Given the description of an element on the screen output the (x, y) to click on. 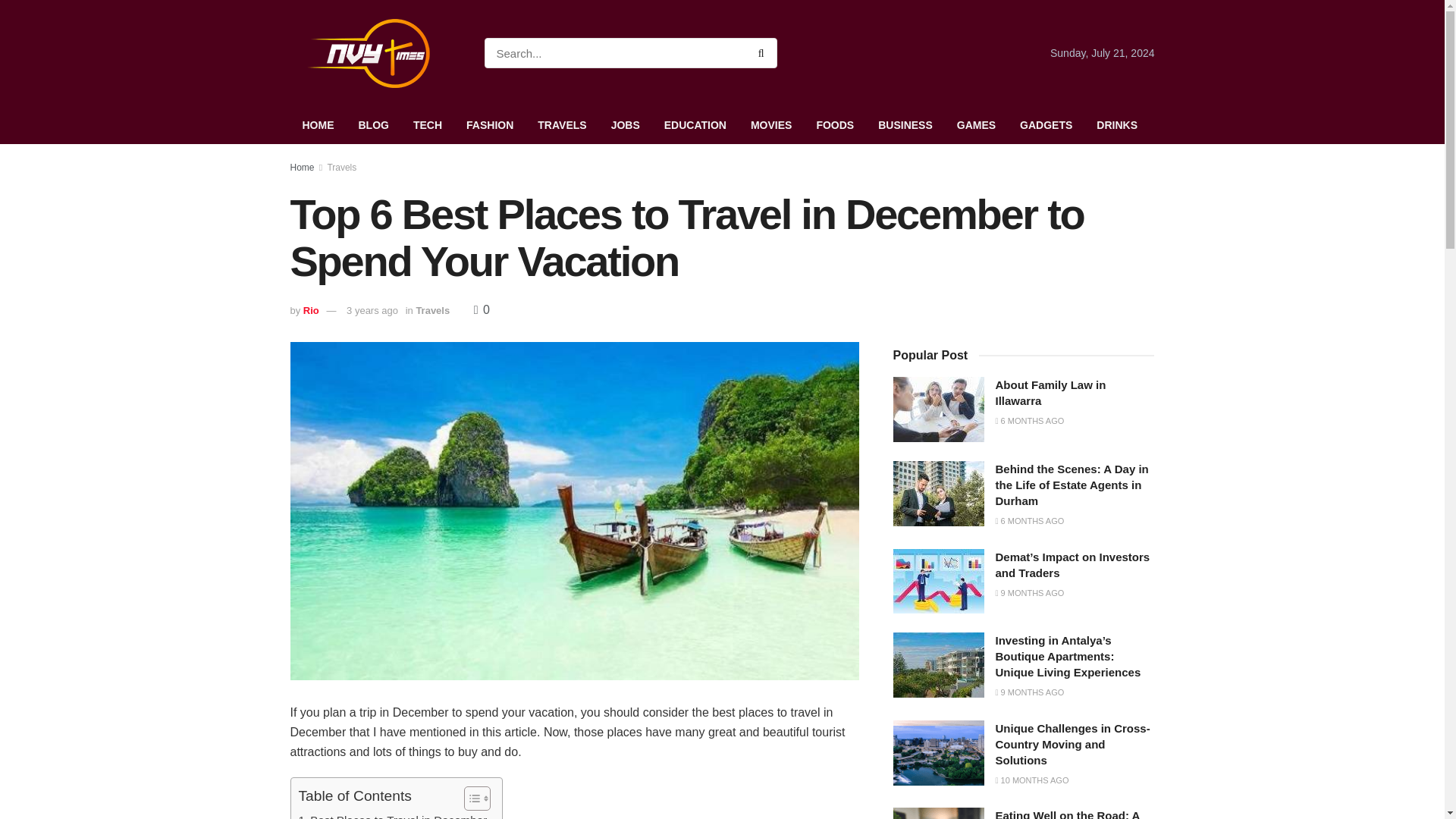
Home (301, 167)
TECH (427, 125)
FASHION (489, 125)
BUSINESS (905, 125)
HOME (317, 125)
Rio (310, 310)
GAMES (975, 125)
JOBS (625, 125)
BLOG (373, 125)
GADGETS (1045, 125)
DRINKS (1117, 125)
FOODS (834, 125)
3 years ago (371, 310)
Best Places to Travel in December (392, 815)
Travels (341, 167)
